Given the description of an element on the screen output the (x, y) to click on. 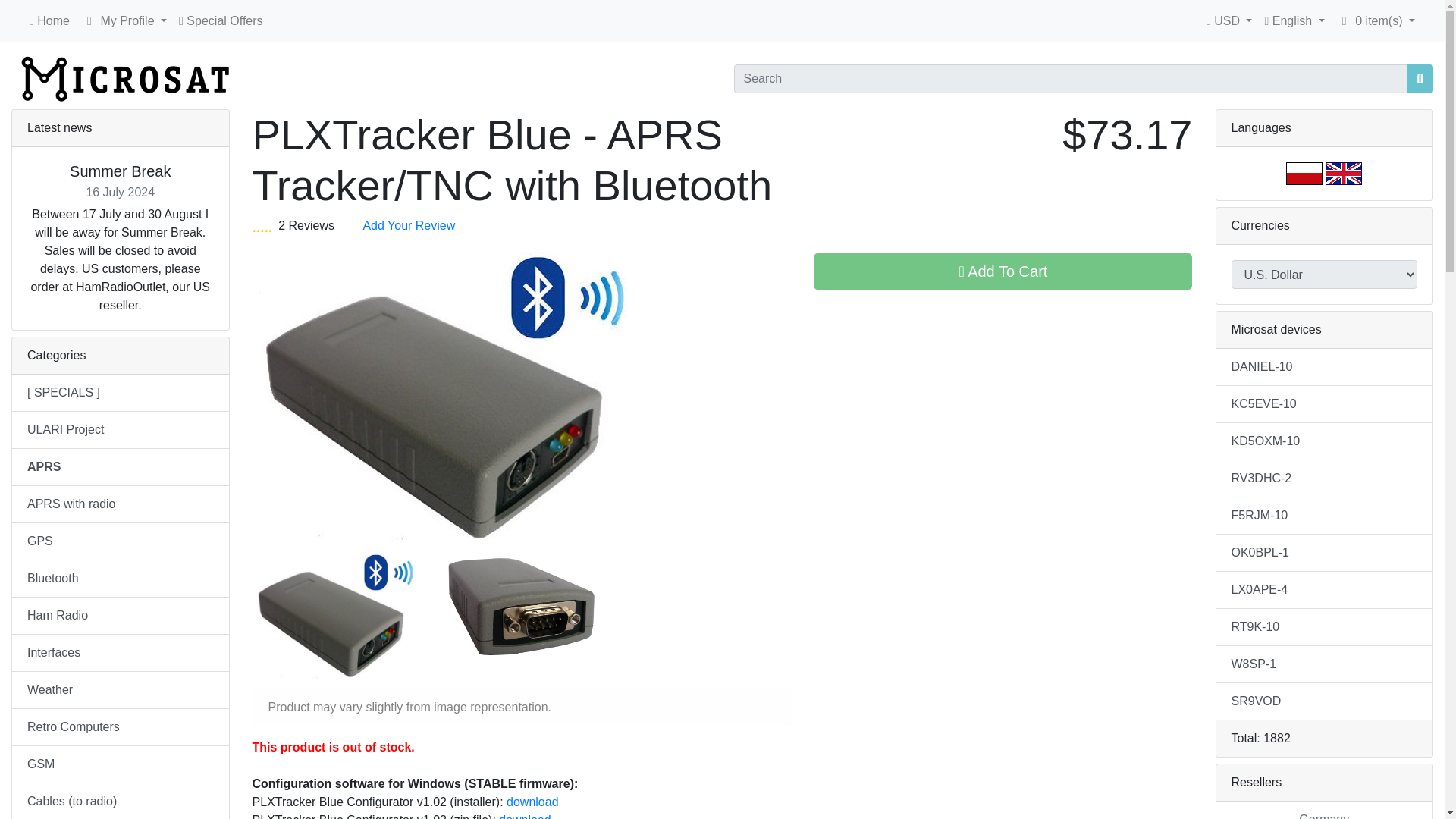
Add To Cart (1002, 271)
APRS with radio (119, 504)
My Profile (89, 21)
English (1342, 173)
USD (1229, 20)
My Profile (124, 20)
Microsat APRS (124, 78)
5 (261, 225)
ULARI Project (119, 429)
APRS (119, 467)
GPS (119, 541)
Bluetooth (119, 578)
Home (49, 20)
English (1293, 20)
download (525, 816)
